Given the description of an element on the screen output the (x, y) to click on. 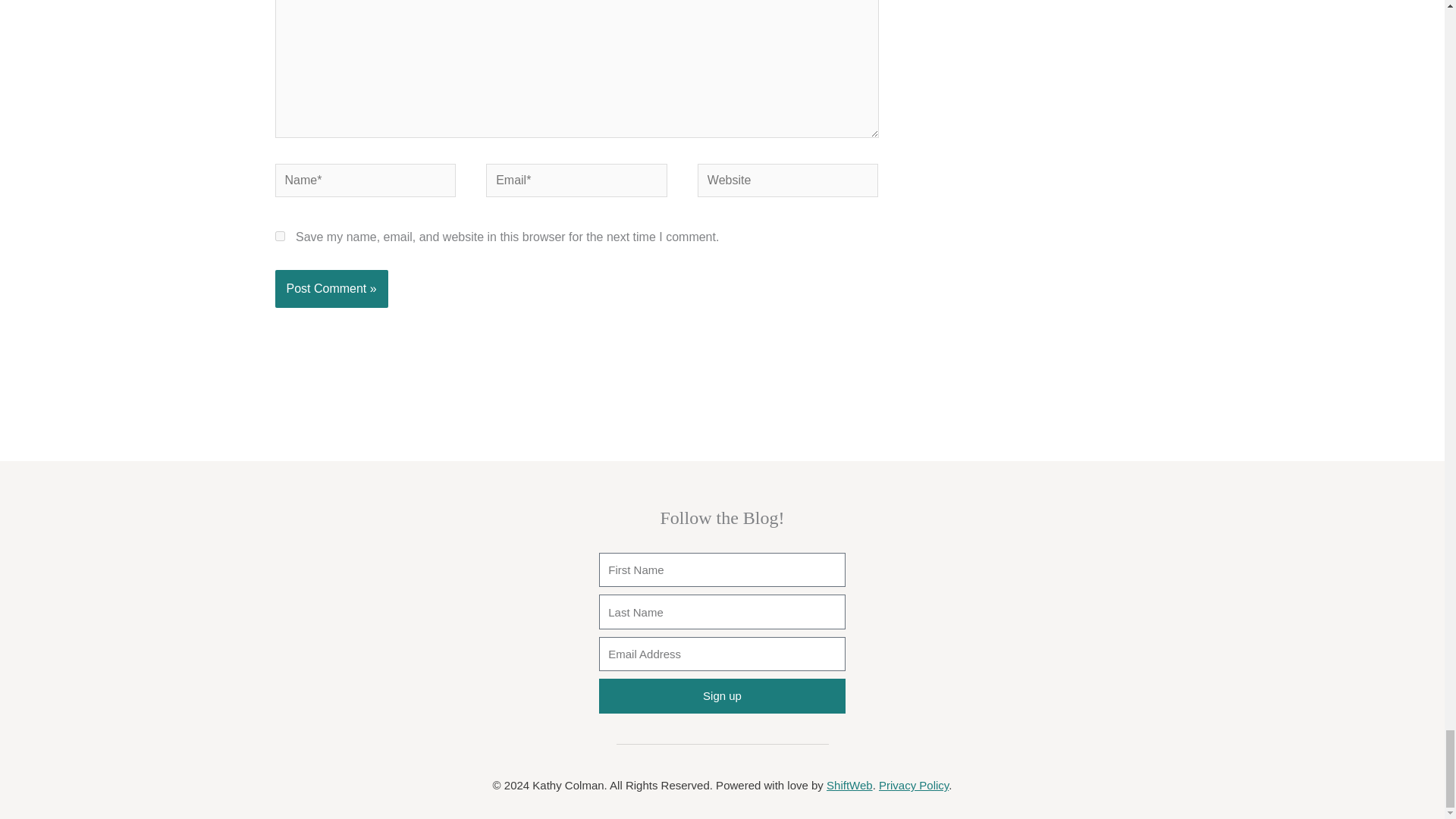
yes (279, 235)
